Given the description of an element on the screen output the (x, y) to click on. 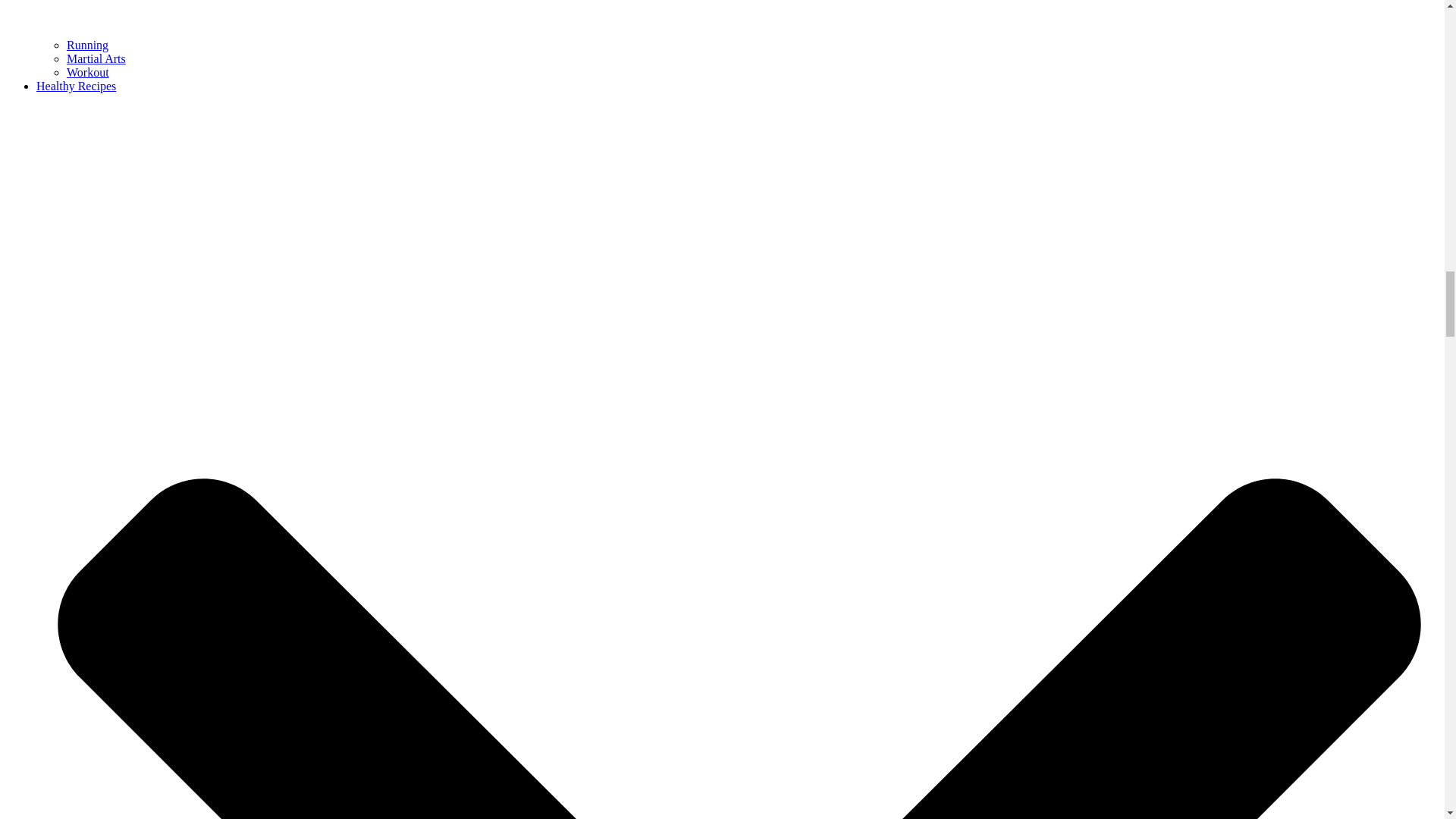
Workout (87, 72)
Martial Arts (95, 58)
Running (86, 44)
Healthy Recipes (76, 85)
